Given the description of an element on the screen output the (x, y) to click on. 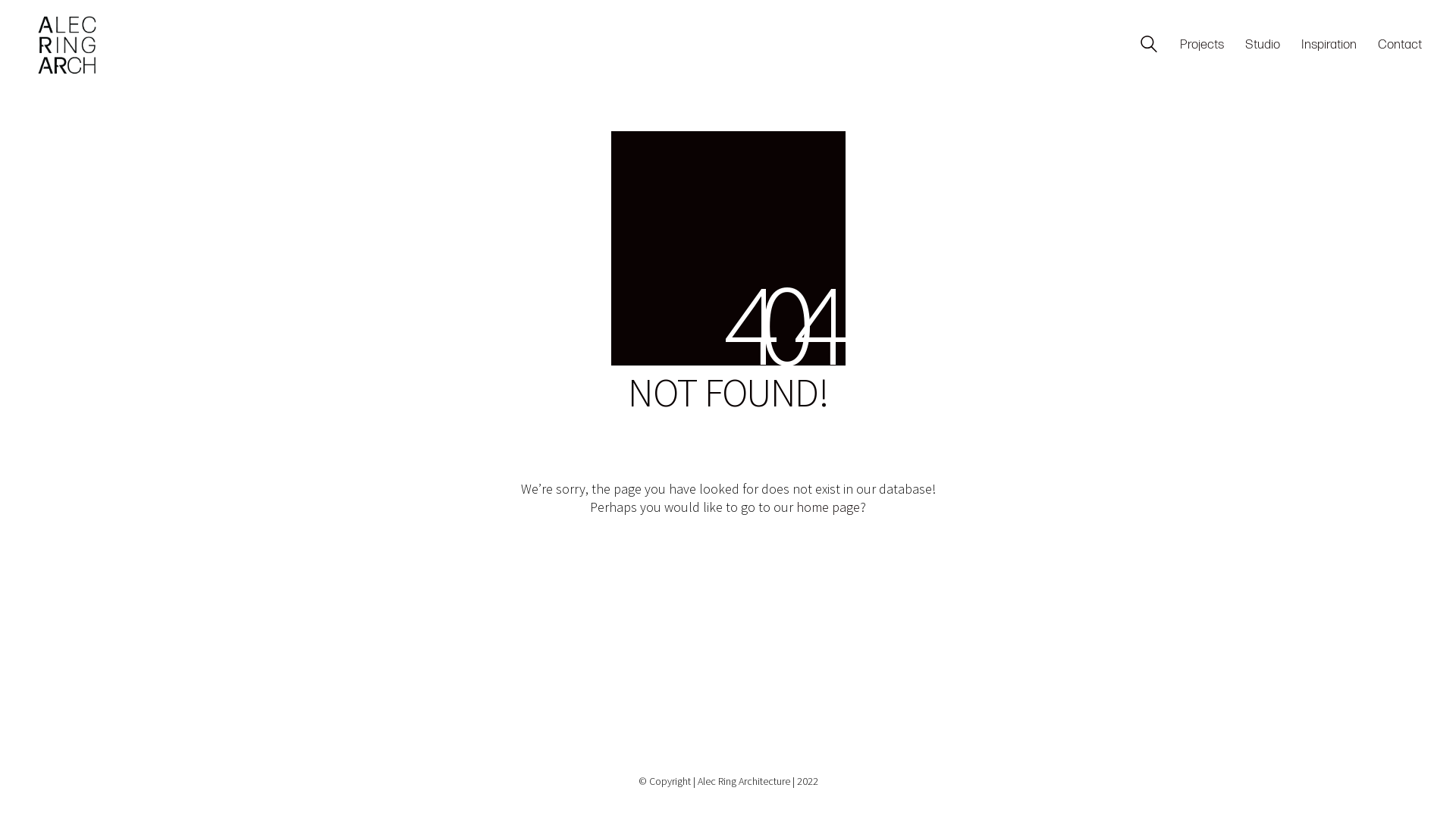
Studio Element type: text (1262, 44)
Inspiration Element type: text (1328, 44)
Contact Element type: text (1399, 44)
Projects Element type: text (1201, 44)
home page Element type: text (827, 507)
